Given the description of an element on the screen output the (x, y) to click on. 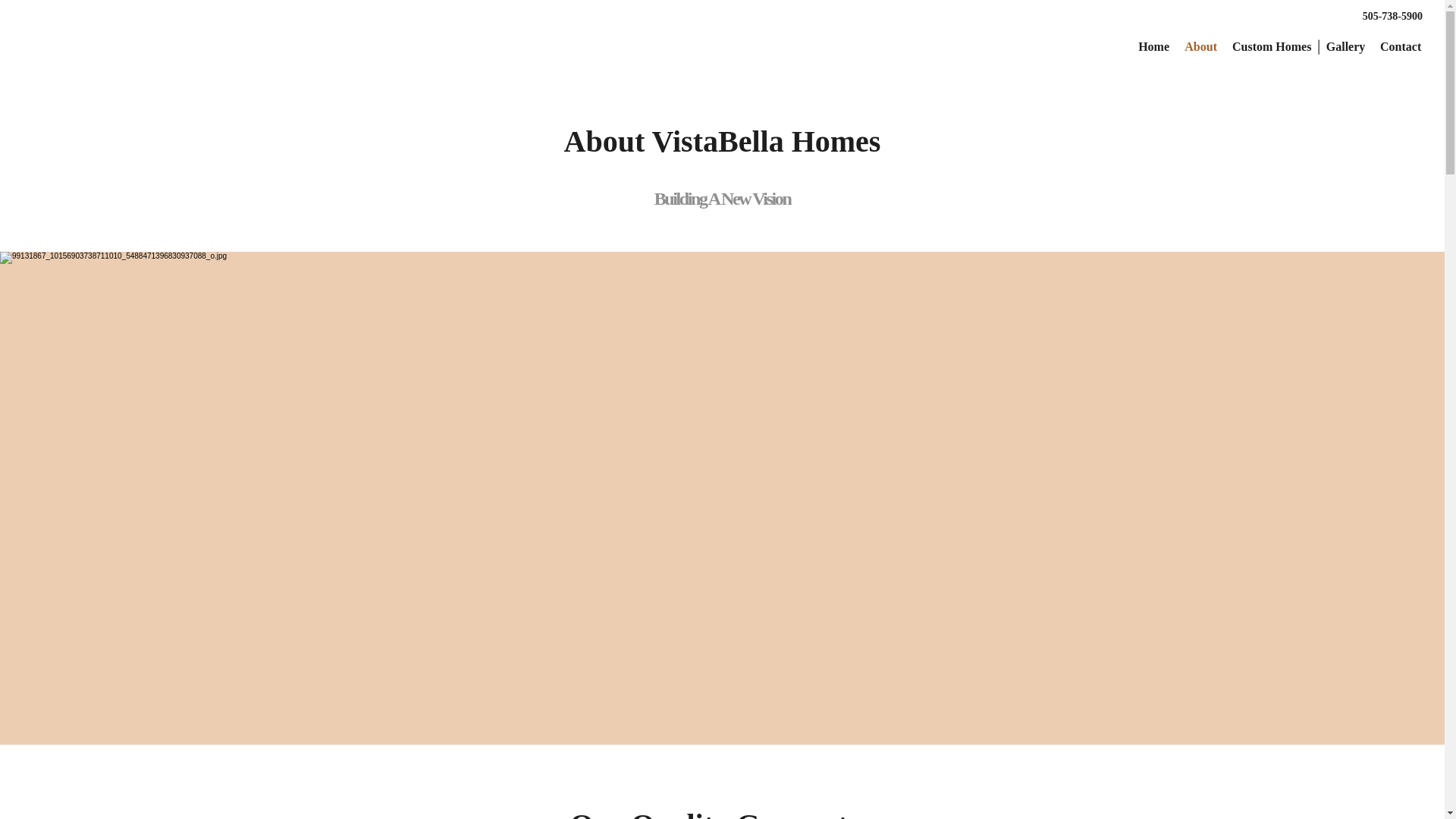
Home (1153, 46)
Contact (1400, 46)
About (1200, 46)
505-738-5900 (1392, 16)
